Given the description of an element on the screen output the (x, y) to click on. 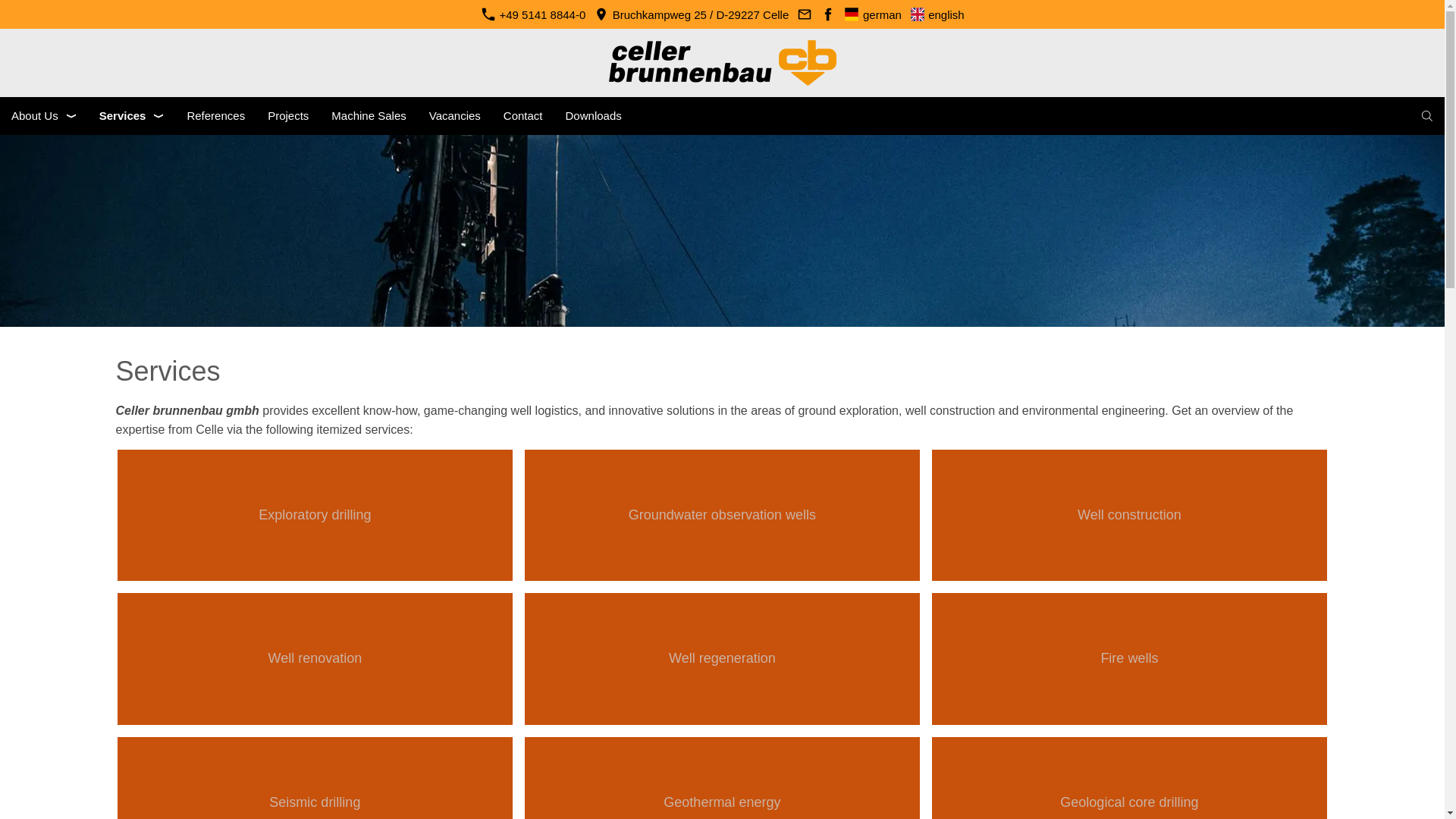
Contact (523, 116)
Send us an e-mail message (804, 14)
Exploratory drilling (314, 514)
english (935, 14)
Exploratory drilling (314, 514)
Services (131, 116)
german (872, 14)
Well construction (1128, 514)
Well regeneration (722, 658)
Well construction (1128, 514)
Downloads (593, 116)
Machine Sales (368, 116)
Seismic drilling (314, 778)
german (872, 14)
About Us (43, 116)
